Given the description of an element on the screen output the (x, y) to click on. 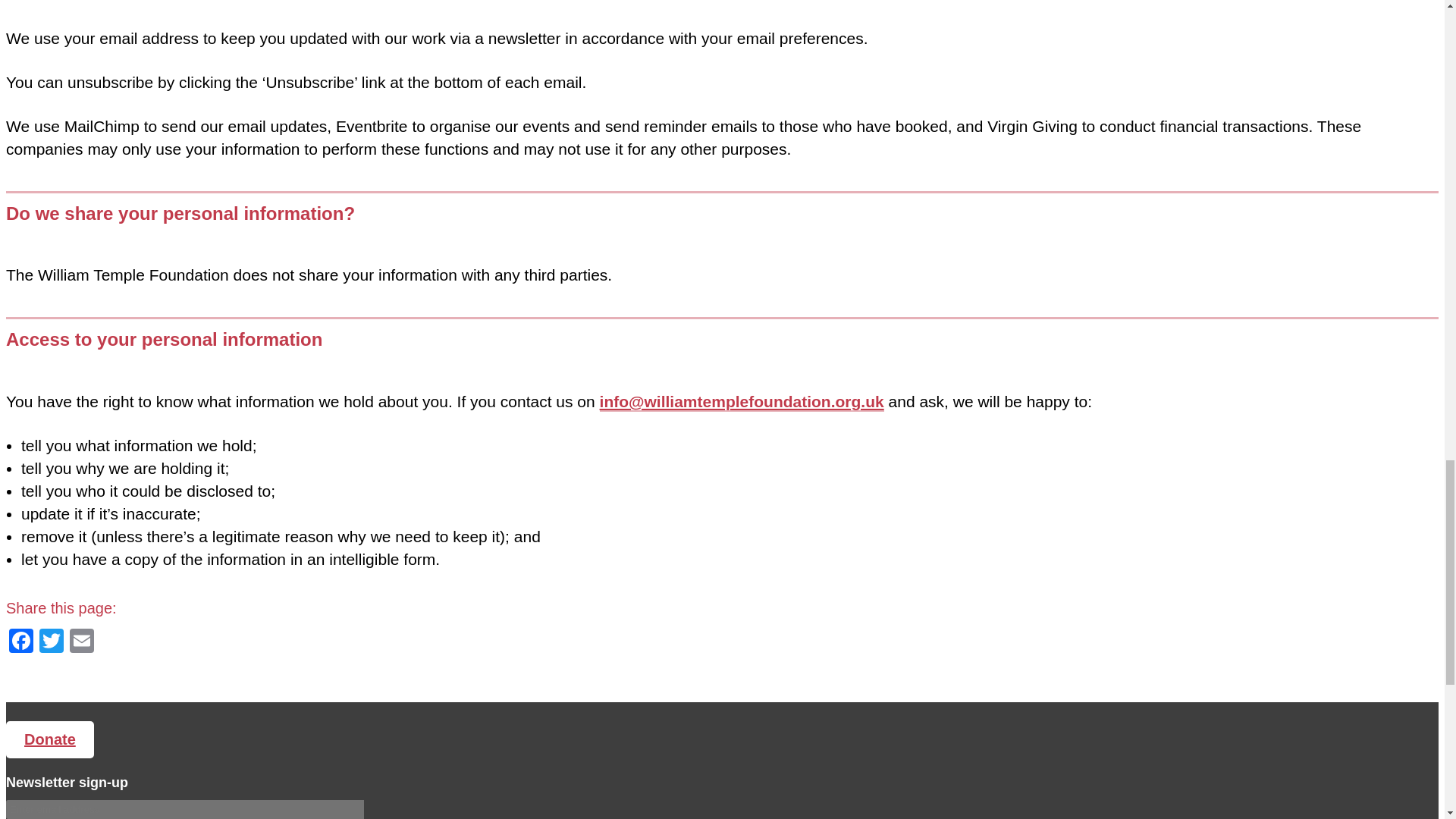
Email (81, 642)
Twitter (51, 642)
Facebook (20, 642)
Twitter (51, 642)
Facebook (20, 642)
